Given the description of an element on the screen output the (x, y) to click on. 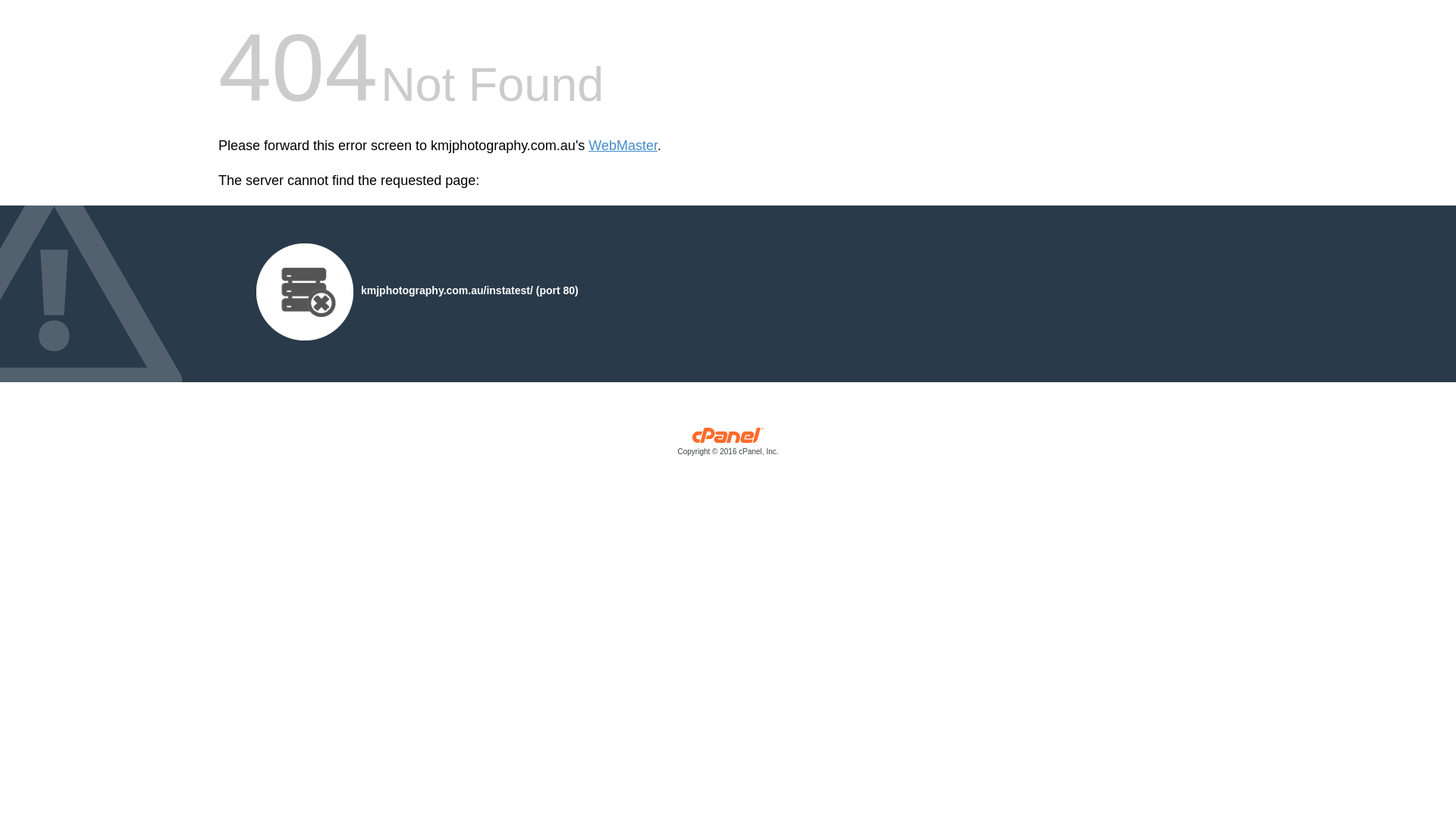
WebMaster Element type: text (622, 145)
